Given the description of an element on the screen output the (x, y) to click on. 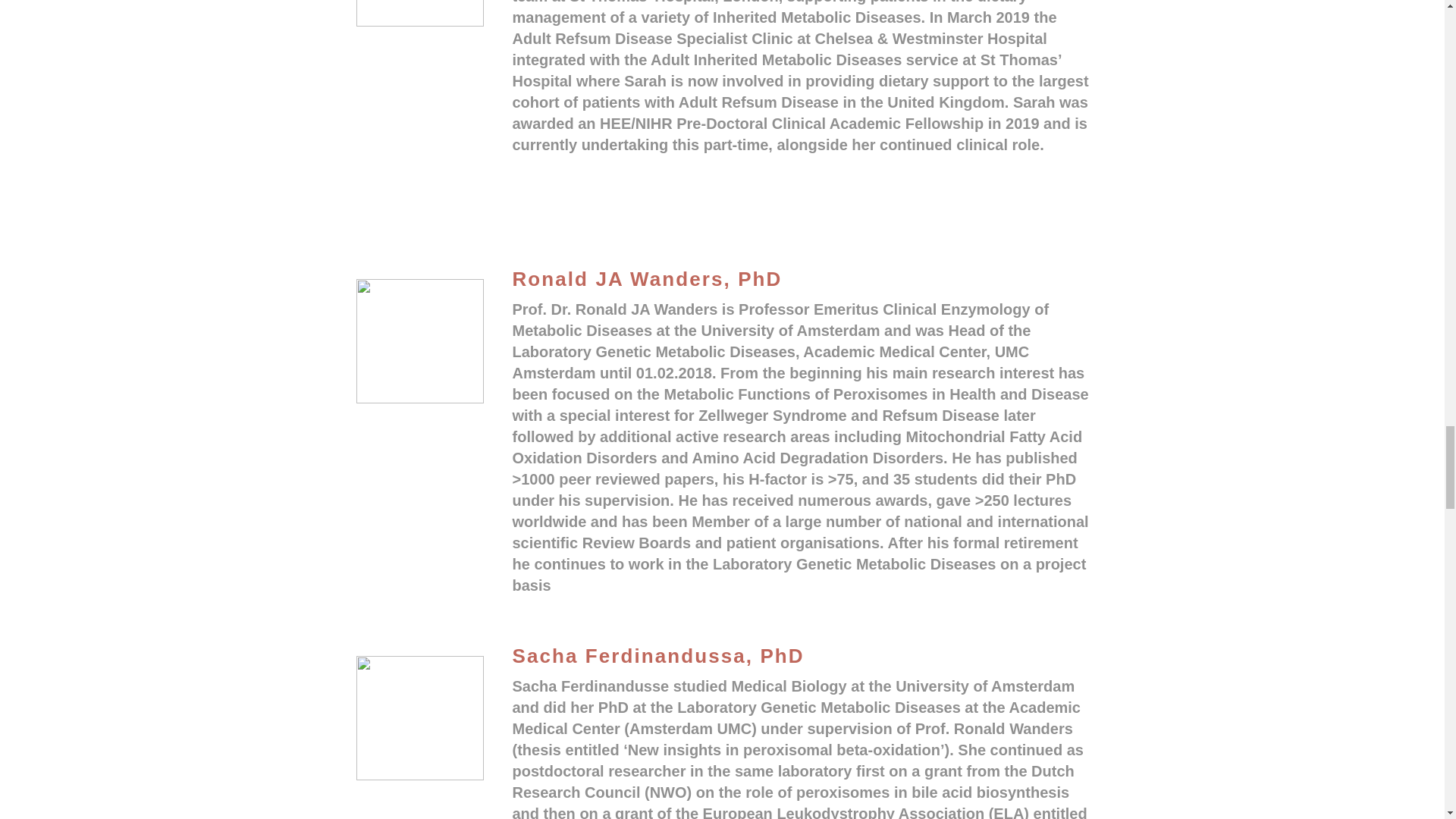
Sarah Firman.JPG (419, 13)
Sacha.jpg (419, 718)
Ron Wanders 2.jfif (419, 341)
